Given the description of an element on the screen output the (x, y) to click on. 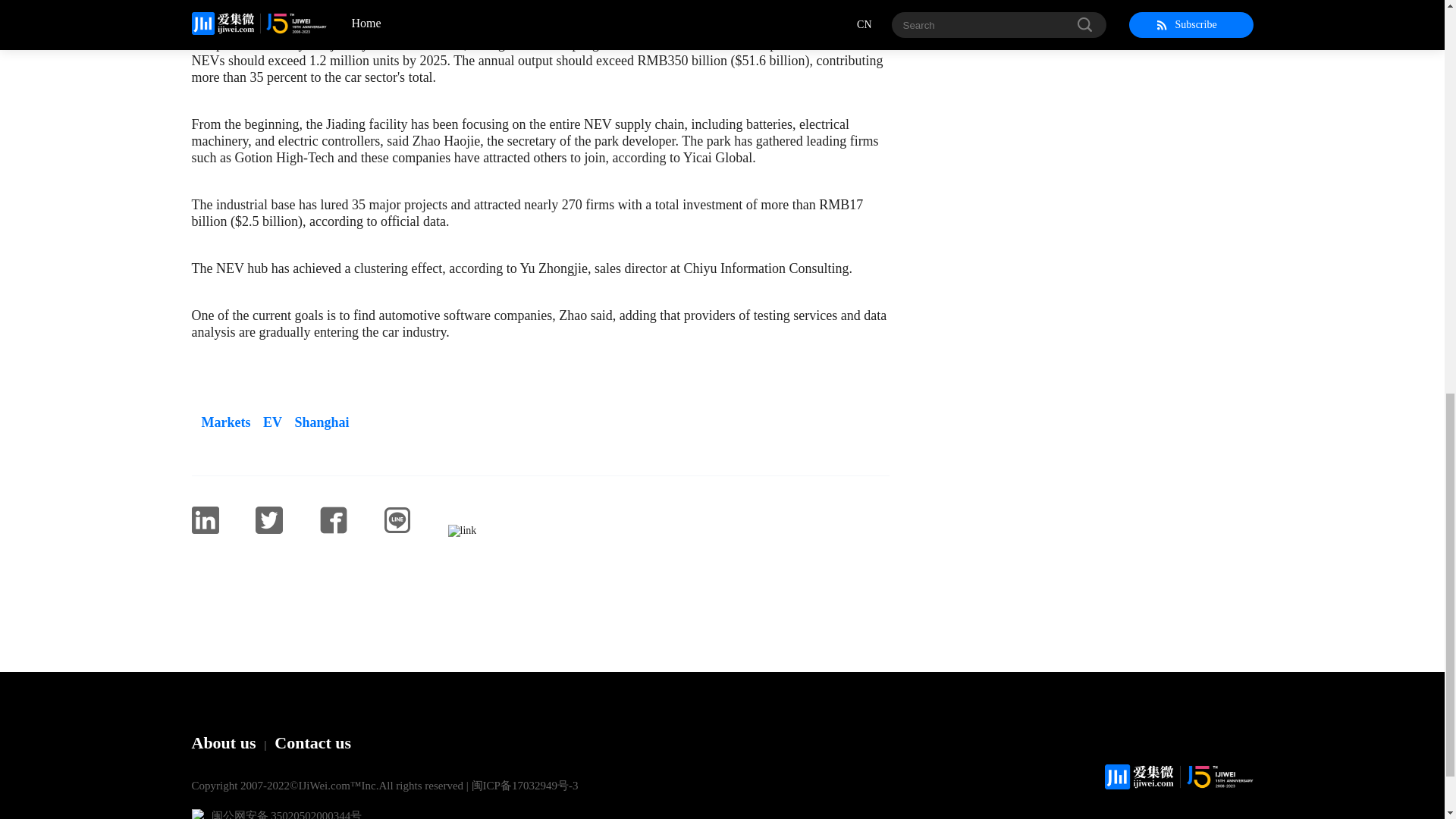
Contact us (312, 742)
About us (223, 742)
Shanghai (317, 421)
Markets (220, 421)
EV (267, 421)
